Given the description of an element on the screen output the (x, y) to click on. 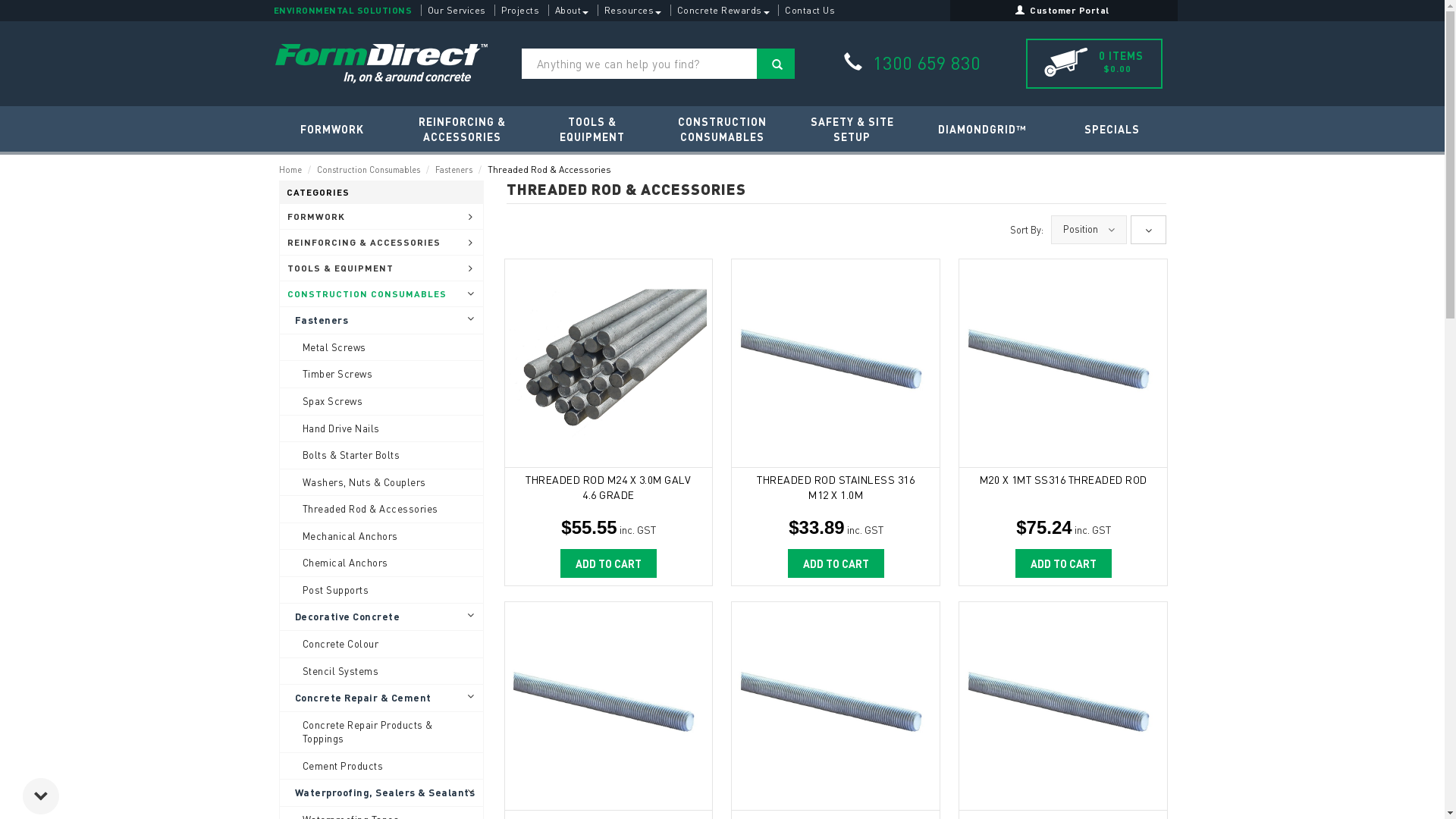
THREADED ROD STAINLESS 316 M12 X 1.0M Element type: text (835, 486)
TOOLS & EQUIPMENT Element type: text (381, 268)
Spax Screws Element type: text (381, 401)
Projects Element type: text (519, 9)
ADD TO CART Element type: text (1063, 563)
Metal Screws Element type: text (381, 347)
REINFORCING & ACCESSORIES Element type: text (381, 242)
ADD TO CART Element type: text (608, 563)
TOOLS & EQUIPMENT Element type: text (591, 128)
Our Services Element type: text (455, 9)
Fasteners Element type: text (453, 169)
M20 X 1MT SS316 THREADED ROD Element type: text (1063, 486)
Concrete Rewards Element type: text (722, 9)
ADD TO CART Element type: text (835, 563)
Product Element type: hover (835, 704)
Search Element type: hover (775, 63)
Chemical Anchors Element type: text (381, 563)
FORMWORK Element type: text (331, 128)
SAFETY & SITE SETUP Element type: text (851, 128)
Set Descending Direction Element type: hover (1147, 229)
Product Element type: hover (608, 704)
FORMWORK Element type: text (381, 216)
Waterproofing, Sealers & Sealants Element type: text (381, 792)
Customer Portal Element type: text (1062, 10)
DOWN Element type: text (40, 796)
CONSTRUCTION CONSUMABLES Element type: text (381, 294)
THREADED ROD M24 X 3.0M GALV 4.6 GRADE Element type: hover (608, 361)
Cement Products Element type: text (381, 766)
About Element type: text (570, 9)
Fasteners Element type: text (381, 320)
Product Element type: hover (1063, 361)
0 ITEMS $0.00 Element type: text (1093, 63)
Timber Screws Element type: text (381, 374)
Contact Us Element type: text (809, 9)
Concrete Repair Products & Toppings Element type: text (381, 732)
Product Element type: hover (835, 361)
Construction Consumables Element type: text (368, 169)
1300 659 830 Element type: text (911, 62)
Concrete Repair & Cement Element type: text (381, 698)
CONSTRUCTION CONSUMABLES Element type: text (722, 128)
ENVIRONMENTAL SOLUTIONS Element type: text (341, 9)
Concrete Colour Element type: text (381, 644)
REINFORCING & ACCESSORIES Element type: text (462, 128)
Form Direct Element type: hover (380, 63)
Bolts & Starter Bolts Element type: text (381, 455)
Stencil Systems Element type: text (381, 671)
Post Supports Element type: text (381, 590)
Product Element type: hover (1063, 704)
SPECIALS Element type: text (1111, 128)
Mechanical Anchors Element type: text (381, 536)
Home Element type: text (290, 169)
THREADED ROD M24 X 3.0M GALV 4.6 GRADE Element type: text (608, 486)
Washers, Nuts & Couplers Element type: text (381, 482)
Threaded Rod & Accessories Element type: text (381, 509)
Resources Element type: text (632, 9)
Hand Drive Nails Element type: text (381, 428)
Decorative Concrete Element type: text (381, 616)
Position Element type: text (1080, 228)
